Given the description of an element on the screen output the (x, y) to click on. 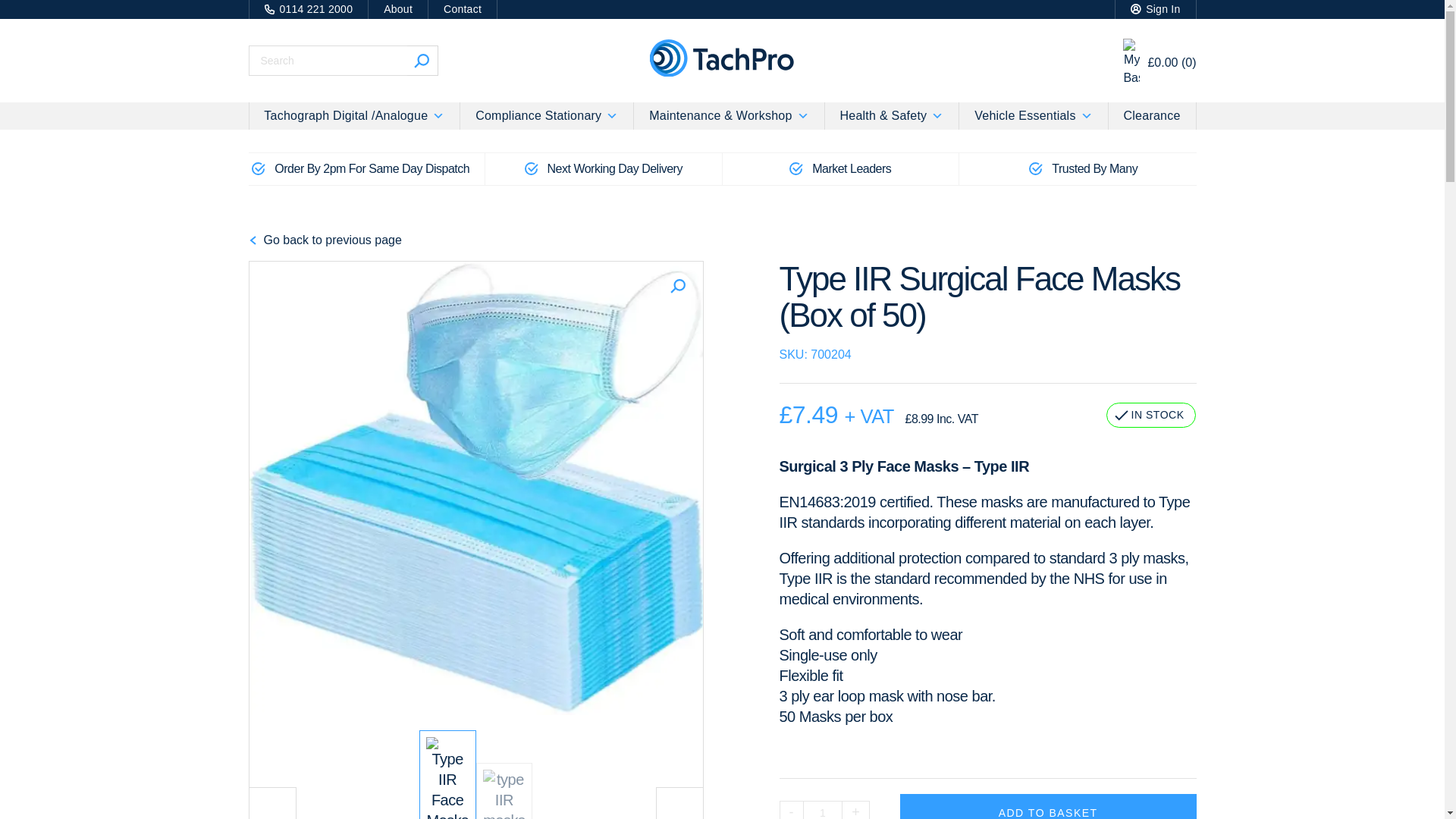
Sign In (1155, 9)
View your shopping cart (1158, 62)
Compliance Stationary (546, 115)
Contact (462, 9)
About (398, 9)
1 (823, 809)
0114 221 2000 (307, 9)
Qty (823, 809)
- (790, 809)
Vehicle Essentials (1032, 115)
